Given the description of an element on the screen output the (x, y) to click on. 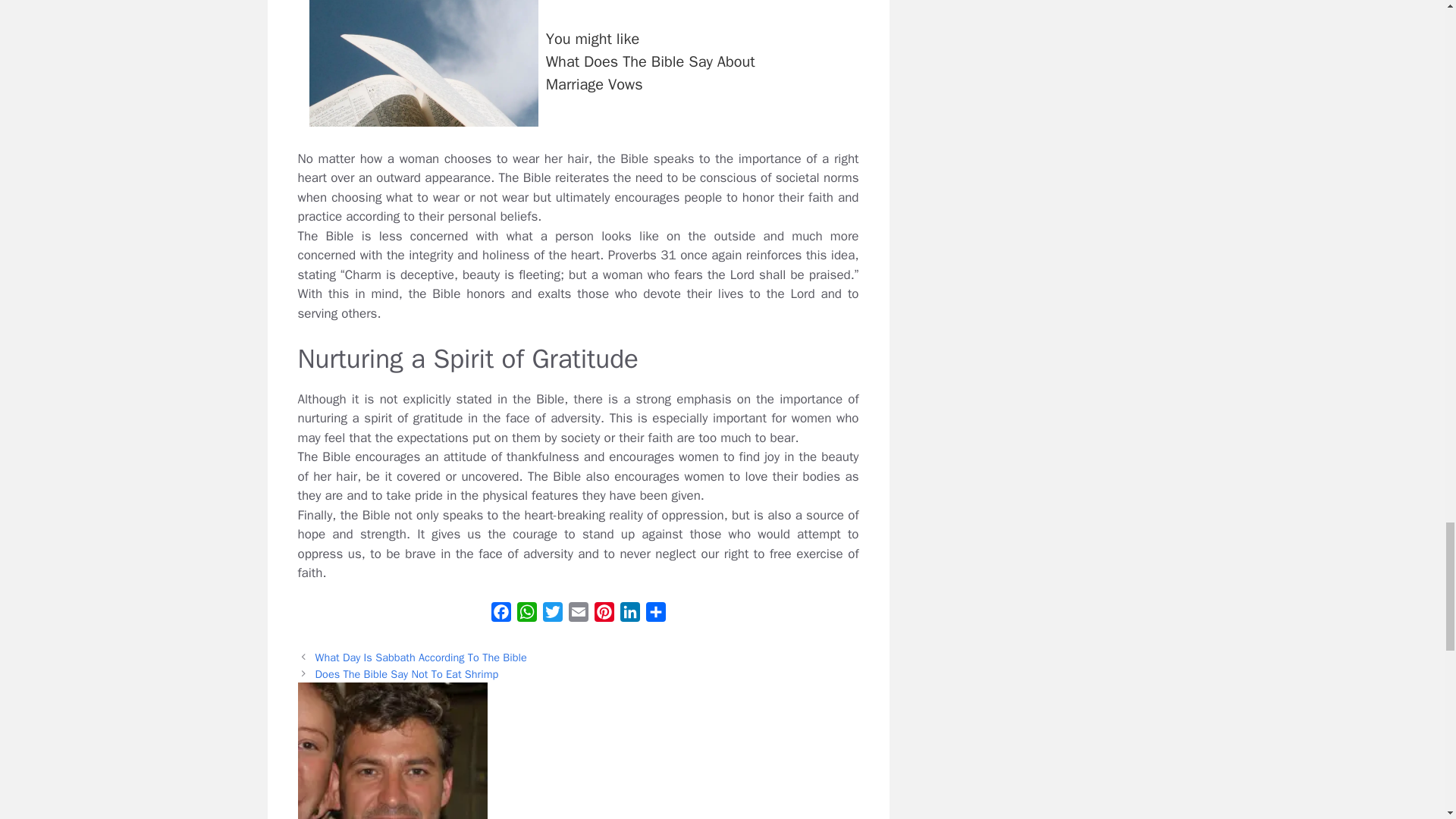
Email (578, 614)
What Does The Bible Say About A Womans Hair (423, 63)
What Day Is Sabbath According To The Bible (421, 657)
Does The Bible Say Not To Eat Shrimp (407, 673)
Facebook (578, 69)
WhatsApp (500, 614)
Pinterest (526, 614)
LinkedIn (604, 614)
Facebook (630, 614)
